Given the description of an element on the screen output the (x, y) to click on. 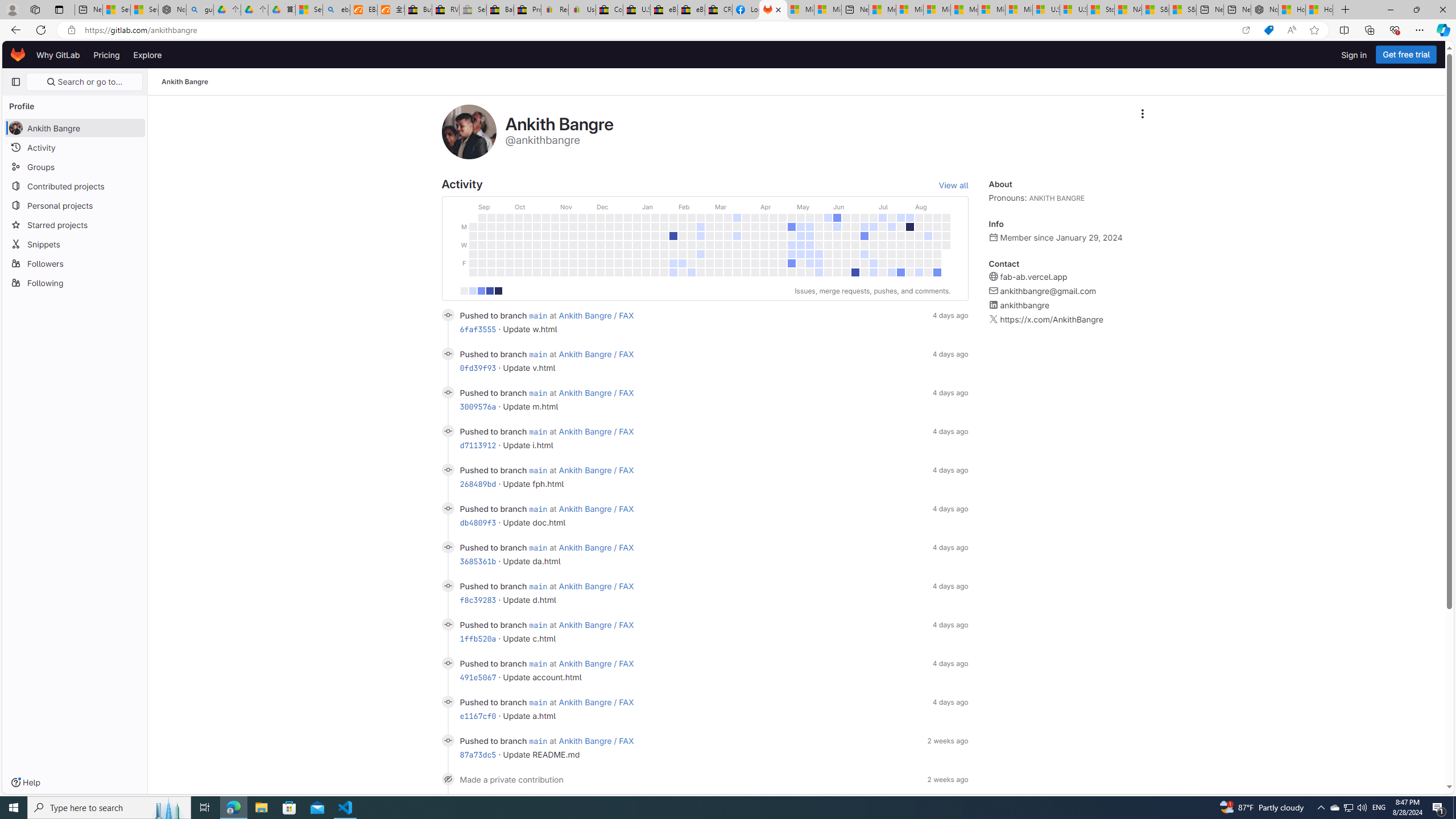
3009576a (478, 406)
Ankith Bangre (184, 81)
